Given the description of an element on the screen output the (x, y) to click on. 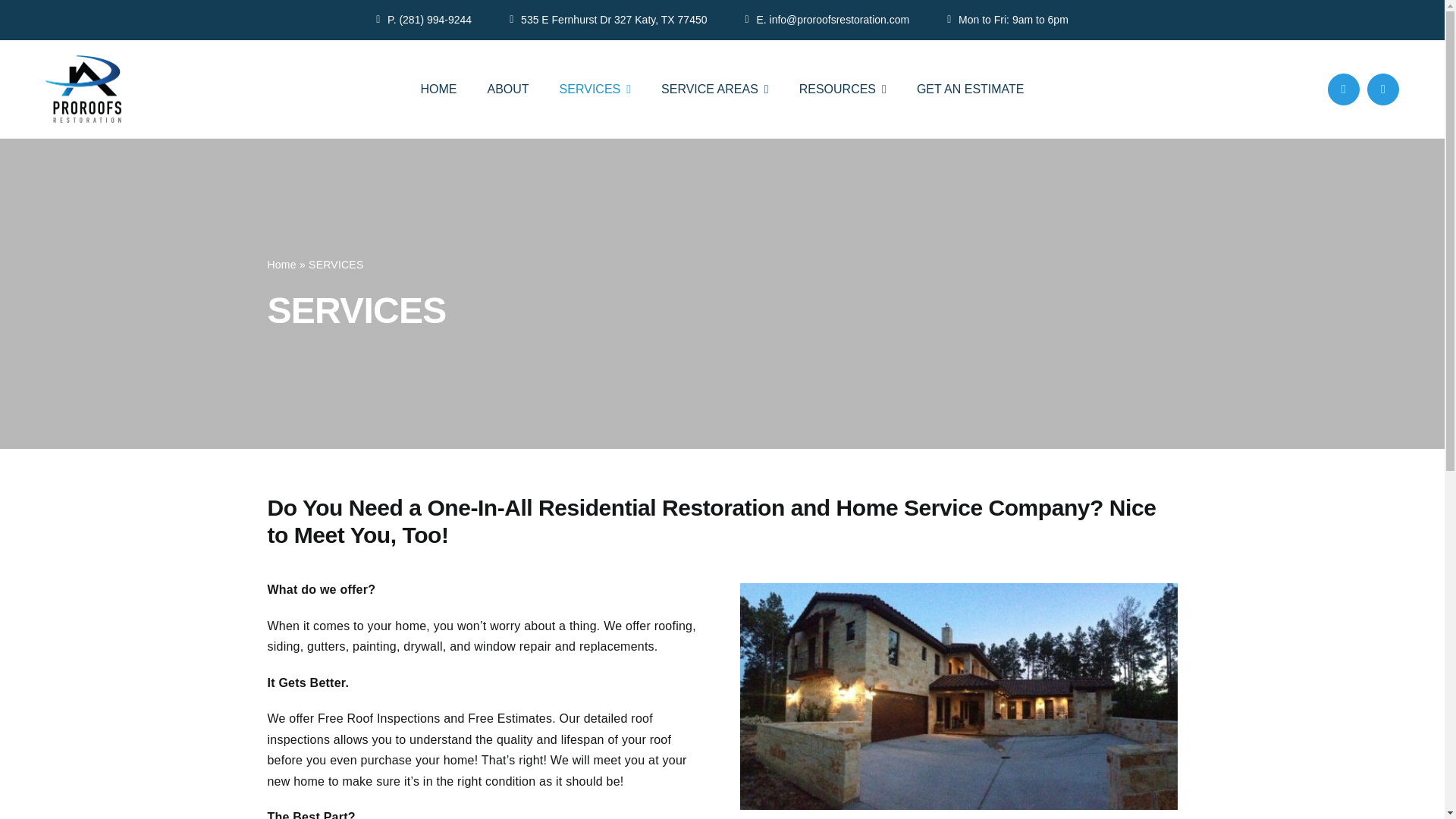
Mon to Fri: 9am to 6pm (1007, 20)
SERVICE AREAS (714, 89)
Pro Roof Project 6 (957, 696)
SERVICES (594, 89)
535 E Fernhurst Dr 327 Katy, TX 77450 (607, 20)
